Given the description of an element on the screen output the (x, y) to click on. 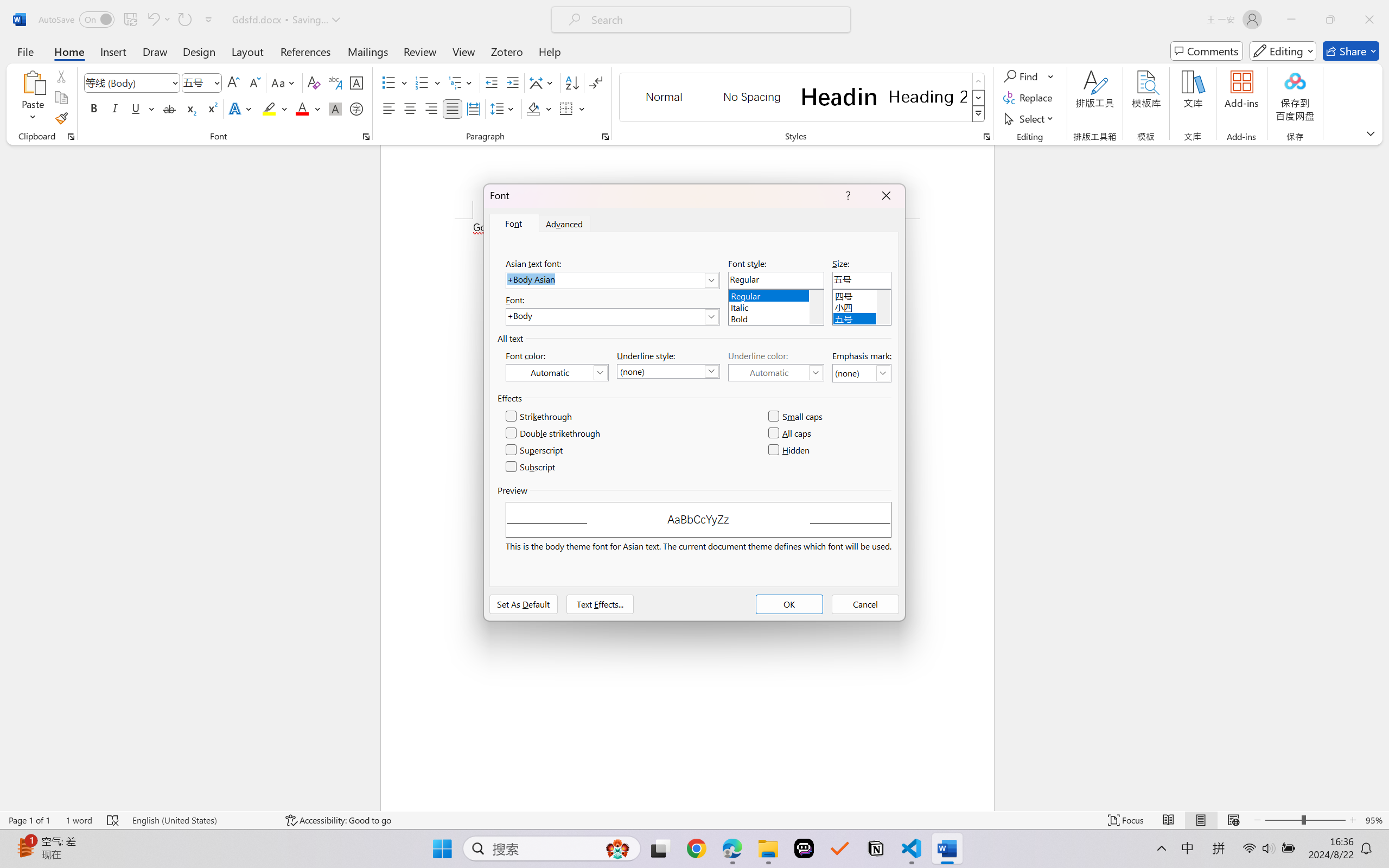
Hidden (789, 450)
Advanced (564, 223)
Strikethrough (169, 108)
Justify (452, 108)
Row Down (978, 97)
AutomationID: 1797 (883, 306)
Cut (60, 75)
